Given the description of an element on the screen output the (x, y) to click on. 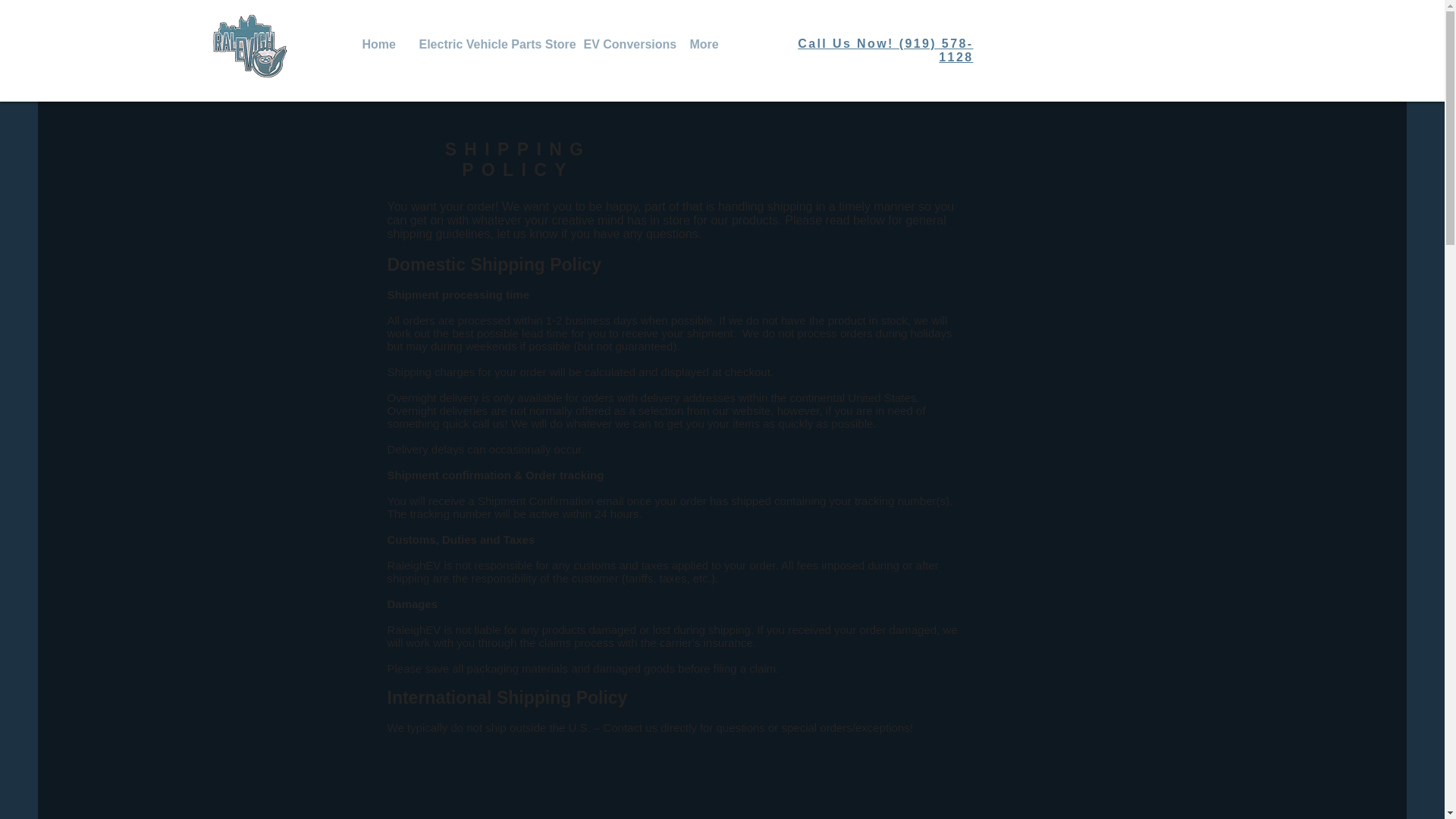
Electric Vehicle Parts Store (489, 44)
Home (378, 44)
EV Conversions (625, 44)
